Given the description of an element on the screen output the (x, y) to click on. 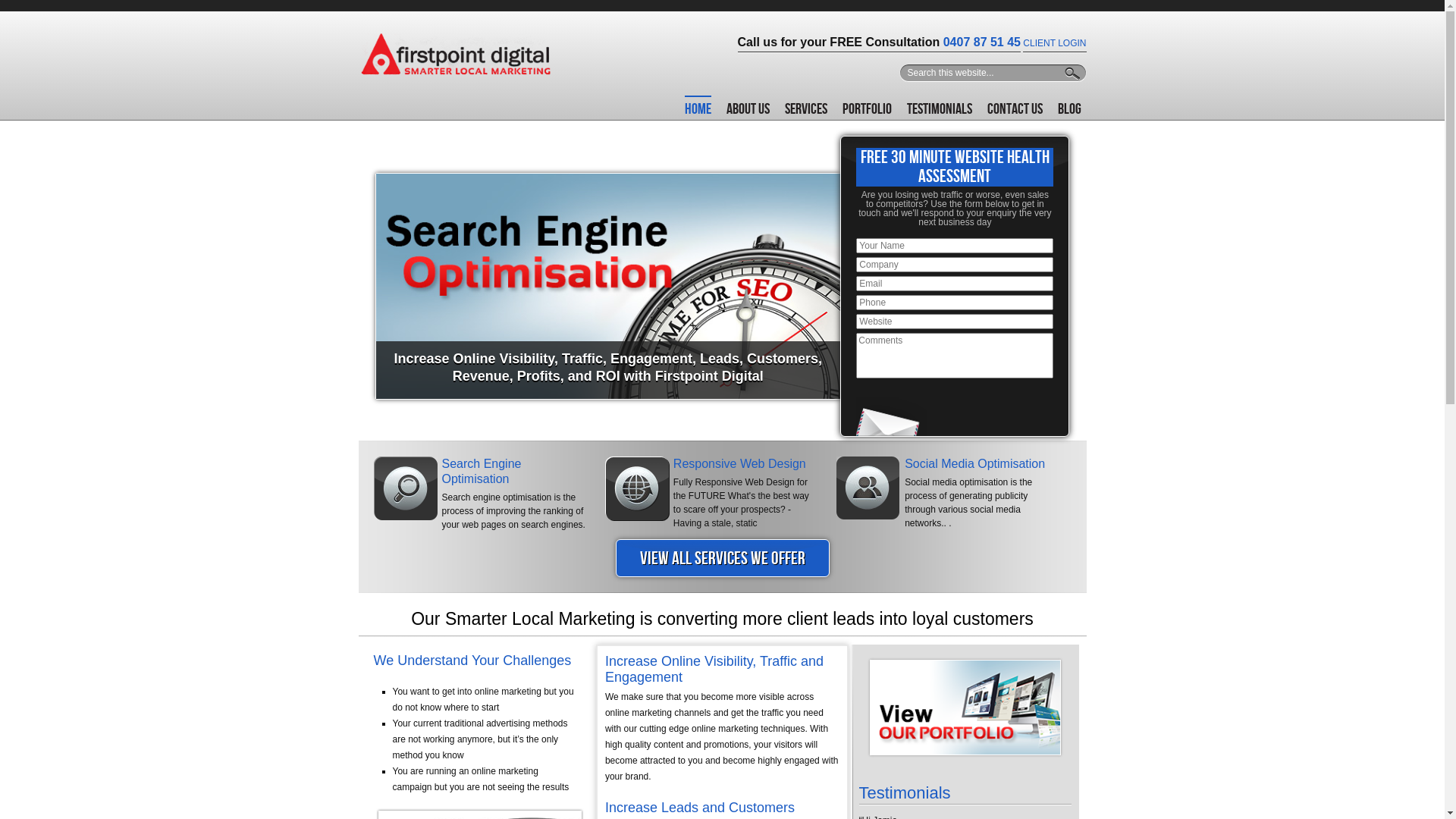
Home Element type: text (697, 107)
Social Media Optimisation Element type: text (974, 463)
Contact Us Element type: text (1014, 107)
Testimonials Element type: text (939, 107)
CLIENT LOGIN Element type: text (1053, 42)
Search Engine Optimisation Element type: text (480, 471)
Blog Element type: text (1068, 107)
About Us Element type: text (747, 107)
VIEW ALL SERVICES WE OFFER Element type: text (721, 557)
Responsive Web Design Element type: text (739, 463)
Portfolio Element type: text (866, 107)
SEND Element type: text (20, 7)
Services Element type: text (805, 107)
